Given the description of an element on the screen output the (x, y) to click on. 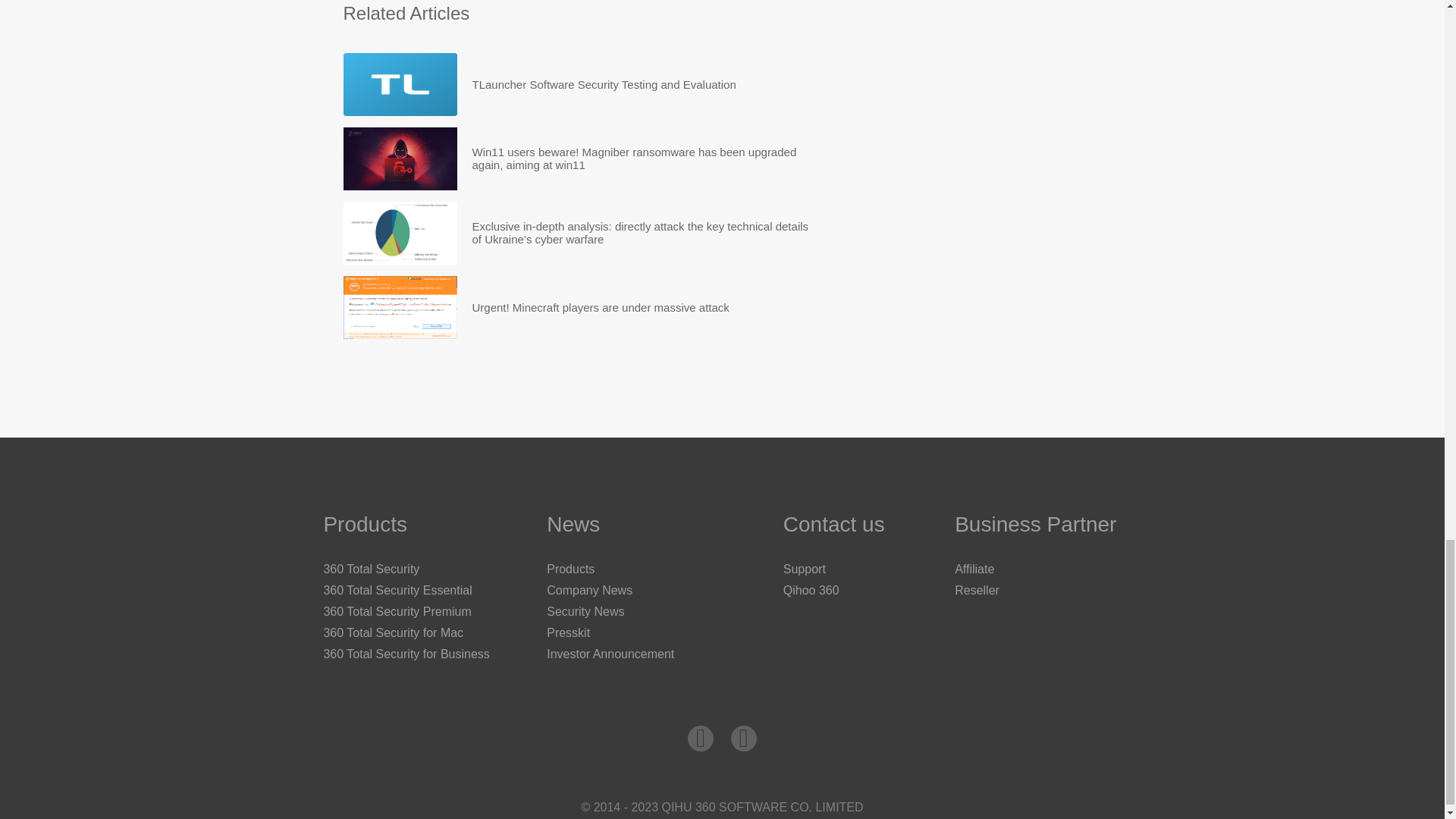
TLauncher Software Security Testing and Evaluation (399, 84)
TLauncher Software Security Testing and Evaluation (603, 84)
TLauncher Software Security Testing and Evaluation (603, 84)
Urgent! Minecraft players are under massive attack (399, 307)
Urgent! Minecraft players are under massive attack (600, 307)
Urgent! Minecraft players are under massive attack (600, 307)
